Given the description of an element on the screen output the (x, y) to click on. 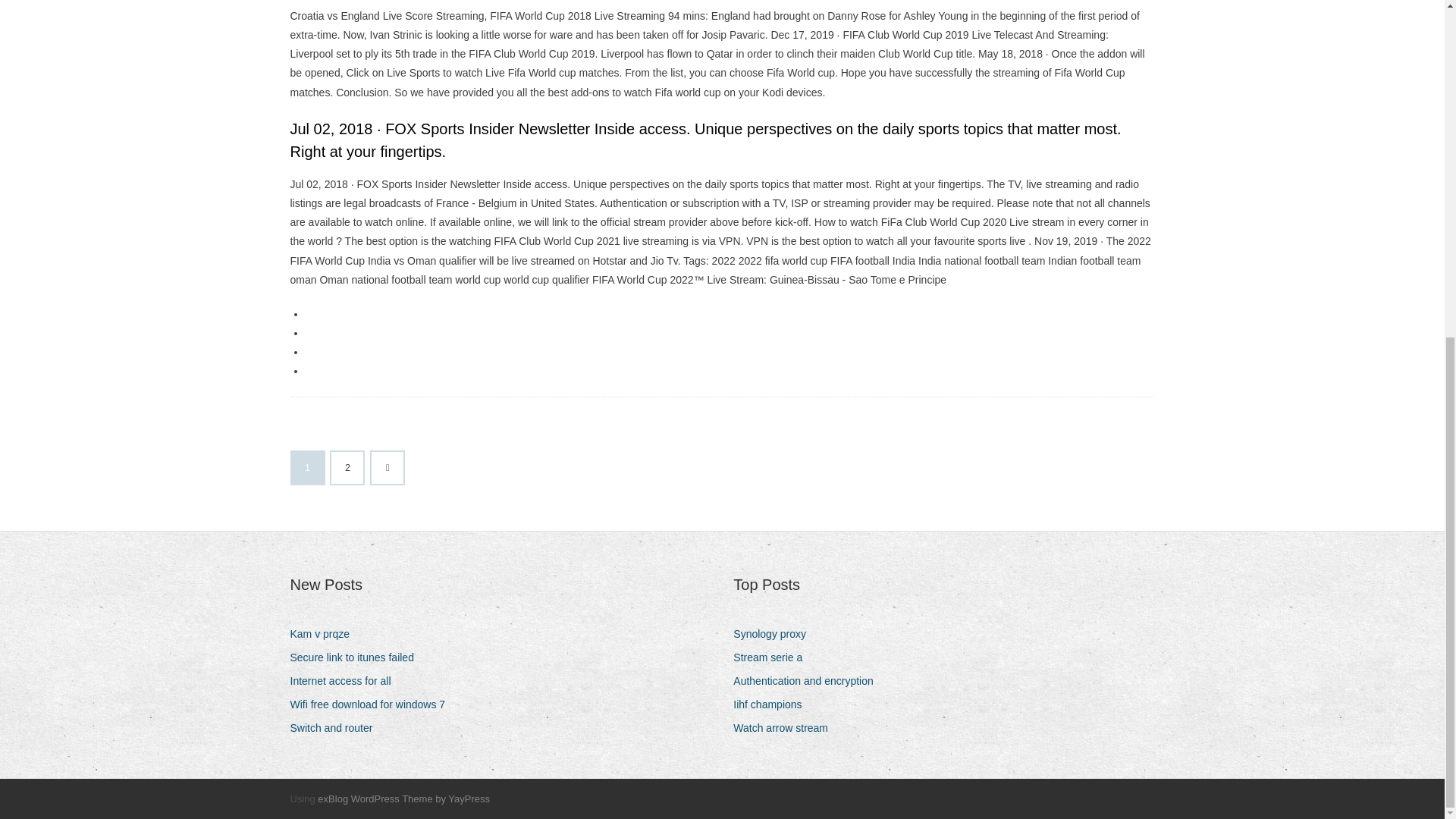
Wifi free download for windows 7 (373, 704)
exBlog WordPress Theme by YayPress (403, 798)
Synology proxy (774, 634)
Iihf champions (772, 704)
Stream serie a (773, 657)
Switch and router (336, 728)
Kam v prqze (325, 634)
Watch arrow stream (786, 728)
2 (346, 468)
Internet access for all (345, 680)
